Given the description of an element on the screen output the (x, y) to click on. 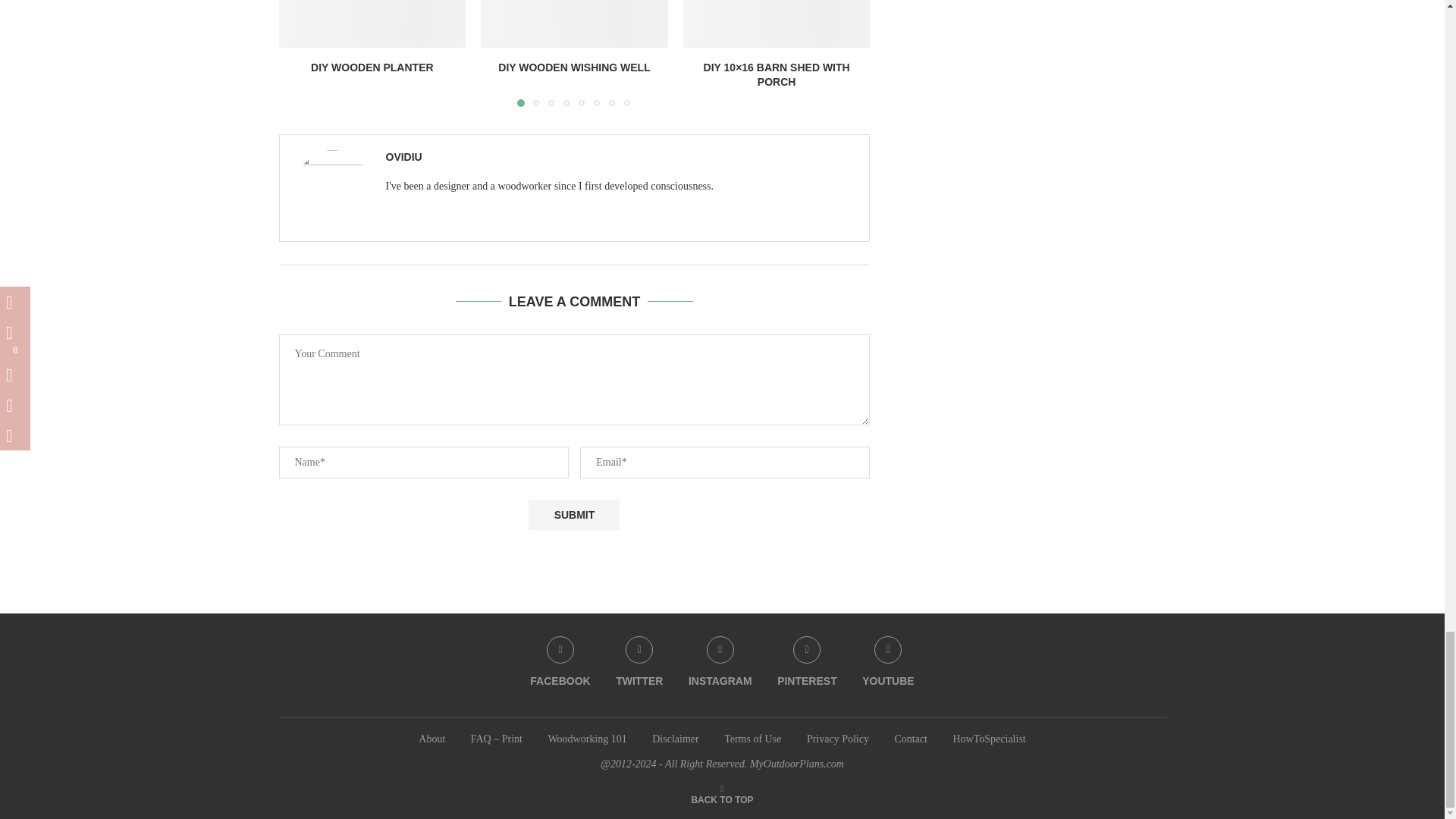
Submit (574, 514)
DIY WOODEN PLANTER (372, 67)
DIY WOODEN WISHING WELL (573, 67)
DIY Wooden Wishing Well (574, 23)
DIY Wooden Planter (372, 23)
